Given the description of an element on the screen output the (x, y) to click on. 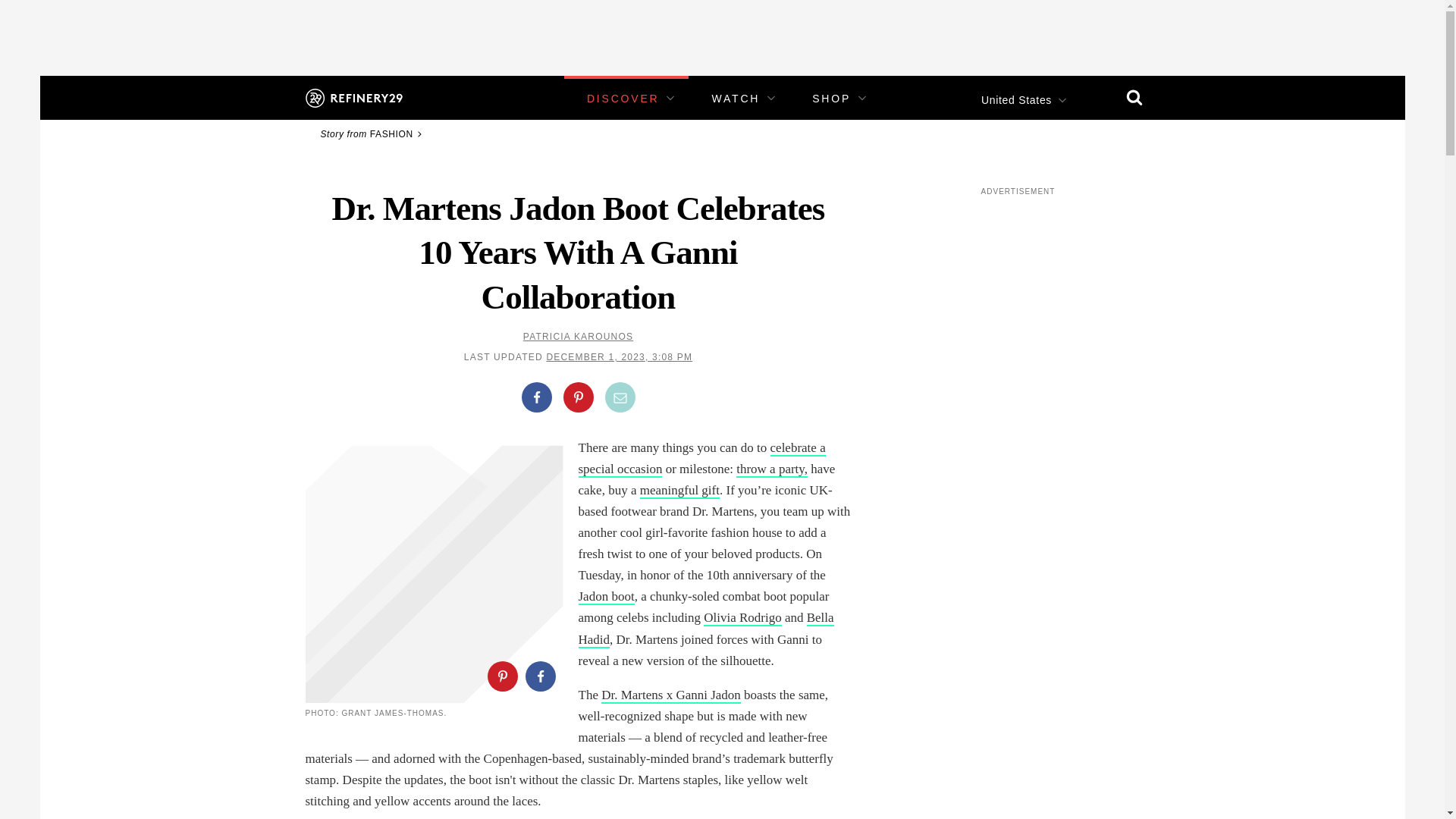
Dr. Martens x Ganni Jadon (671, 695)
Jadon boot (605, 596)
Bella Hadid (705, 628)
WATCH (735, 98)
PATRICIA KAROUNOS (577, 336)
DECEMBER 1, 2023, 3:08 PM (619, 357)
celebrate a special occasion (701, 458)
Refinery29 (352, 97)
throw a party, (772, 469)
Story from FASHION (373, 133)
Share on Pinterest (501, 675)
DISCOVER (622, 98)
Share by Email (619, 397)
meaningful gift (679, 490)
Olivia Rodrigo (741, 618)
